Given the description of an element on the screen output the (x, y) to click on. 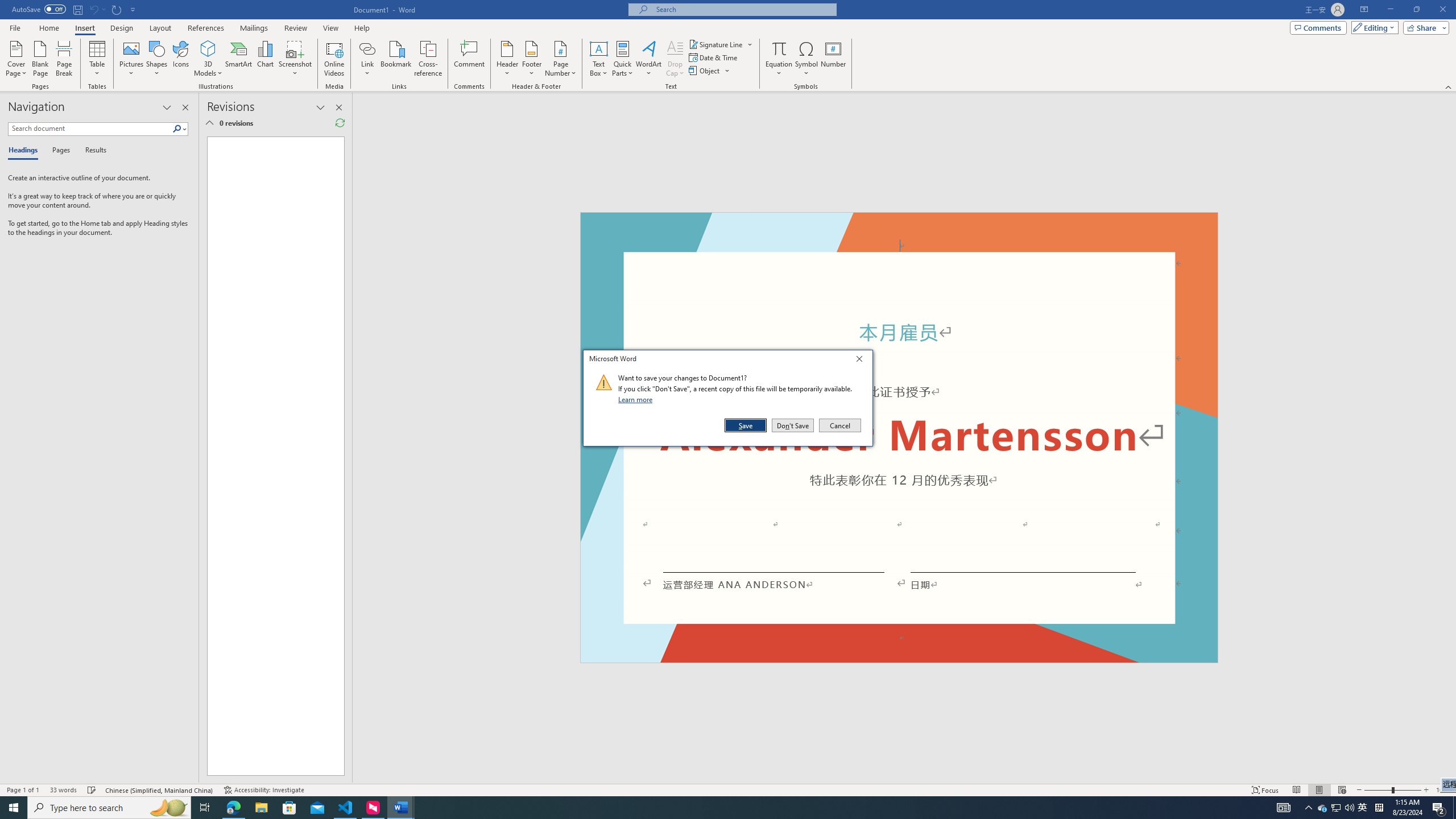
Headings (25, 150)
Collapse the Ribbon (1448, 86)
Signature Line (721, 44)
Text Box (598, 58)
Footer (531, 58)
System (6, 6)
Shapes (156, 58)
Visual Studio Code - 1 running window (345, 807)
Bookmark... (396, 58)
Type here to search (108, 807)
Language Chinese (Simplified, Mainland China) (159, 790)
Results (91, 150)
Blank Page (40, 58)
Refresh Reviewing Pane (339, 122)
